Given the description of an element on the screen output the (x, y) to click on. 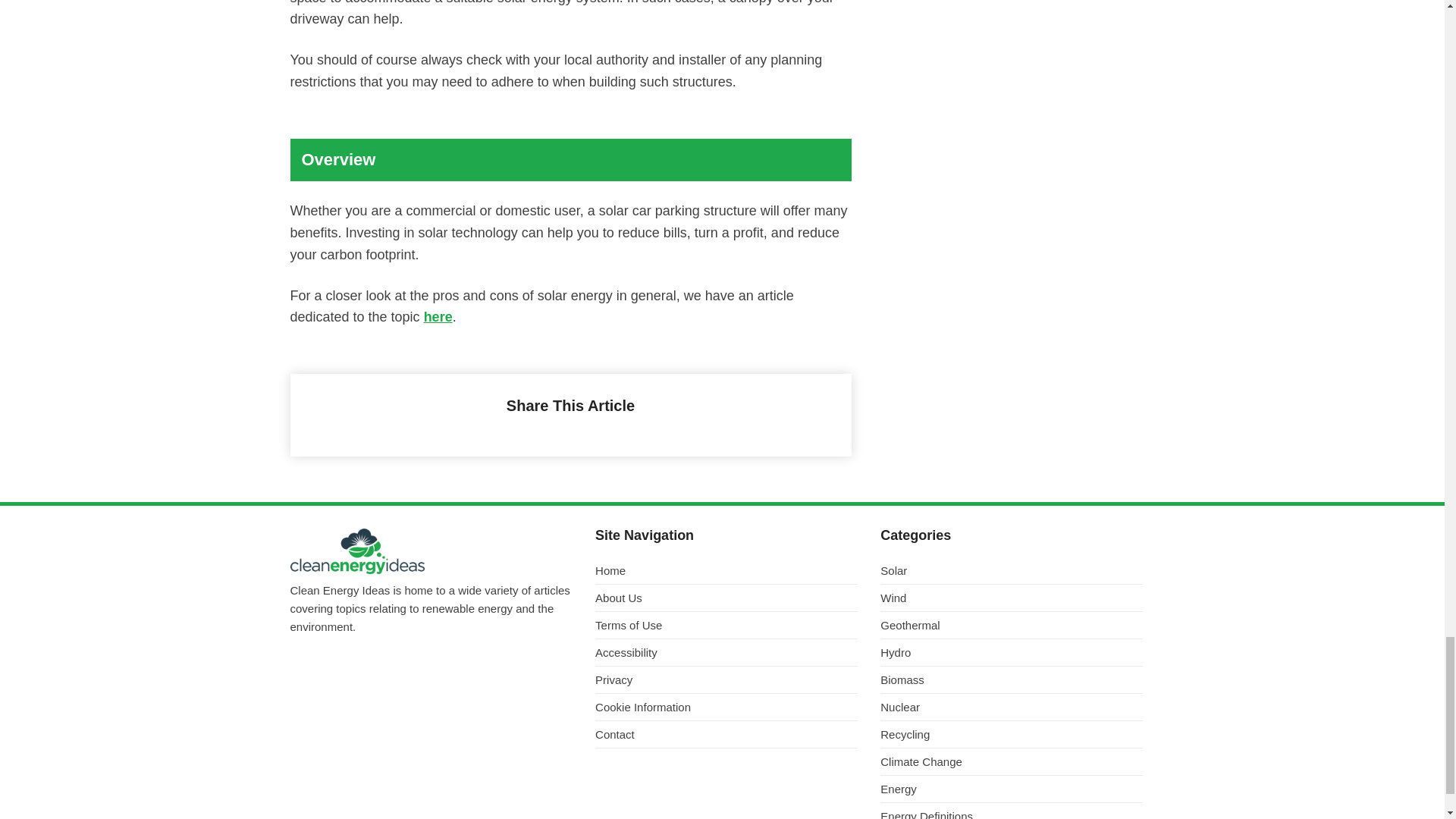
Solar (1011, 574)
Privacy (726, 683)
Terms of Use (726, 629)
Wind (1011, 601)
Nuclear (1011, 711)
here (437, 316)
Accessibility (726, 656)
About Us (726, 601)
Home (726, 574)
Geothermal (1011, 629)
